Given the description of an element on the screen output the (x, y) to click on. 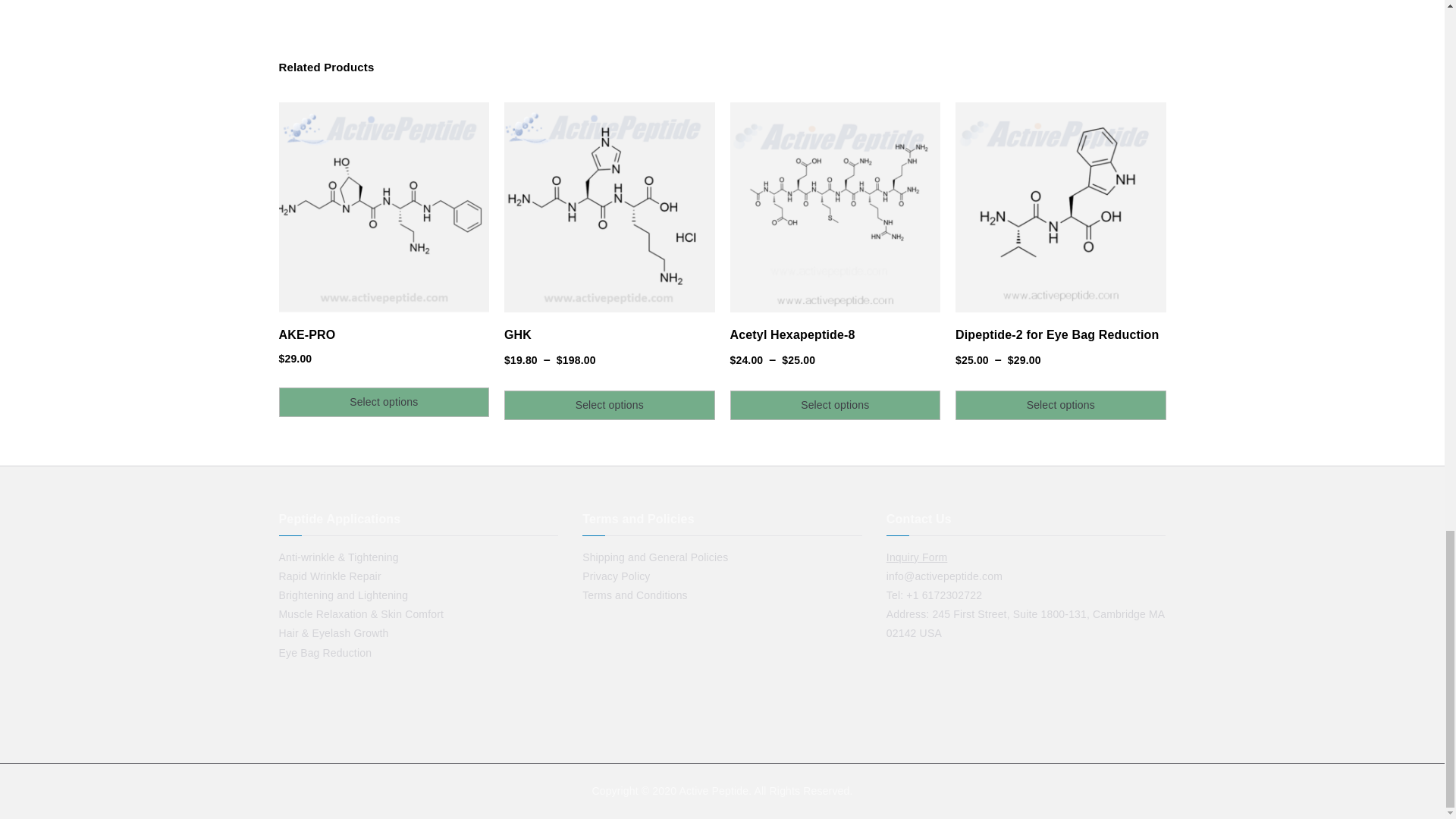
Active Peptide (713, 790)
